Given the description of an element on the screen output the (x, y) to click on. 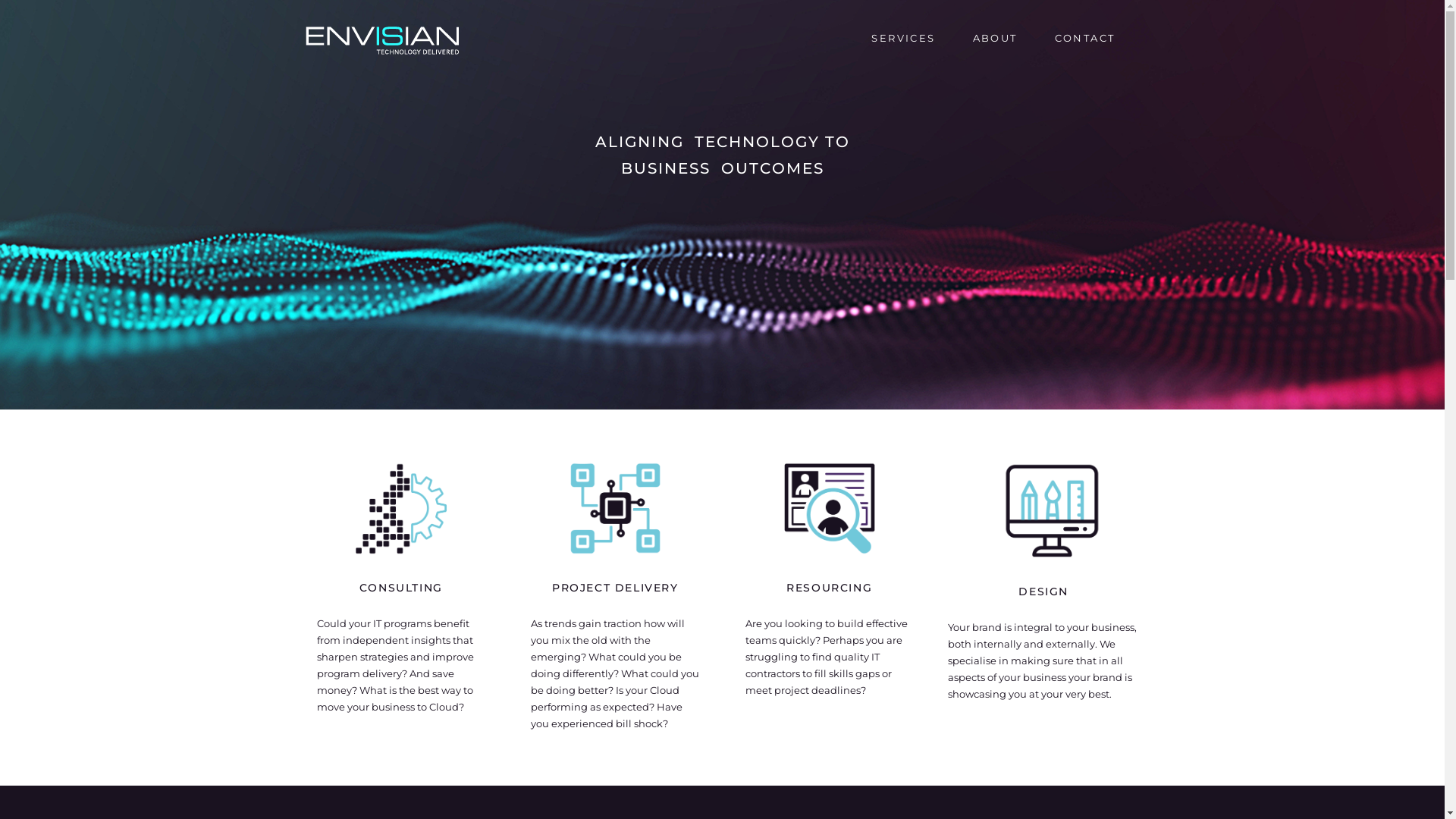
SERVICES Element type: text (902, 37)
CONSULTING Element type: text (400, 587)
CONTACT Element type: text (1084, 37)
DESIGN Element type: text (1043, 591)
PROJECT DELIVERY Element type: text (615, 587)
ABOUT Element type: text (995, 37)
RESOURCING Element type: text (829, 587)
